Given the description of an element on the screen output the (x, y) to click on. 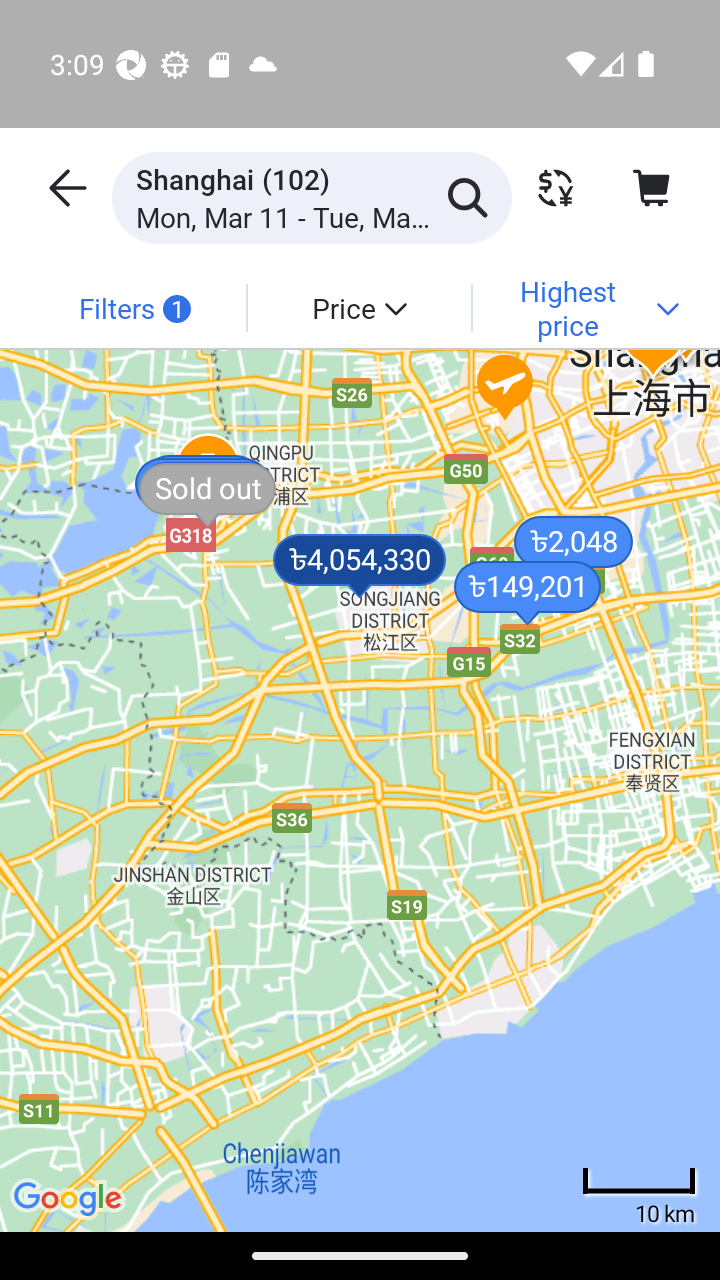
Filters 1 (134, 307)
Price (358, 307)
Highest price (584, 307)
